Given the description of an element on the screen output the (x, y) to click on. 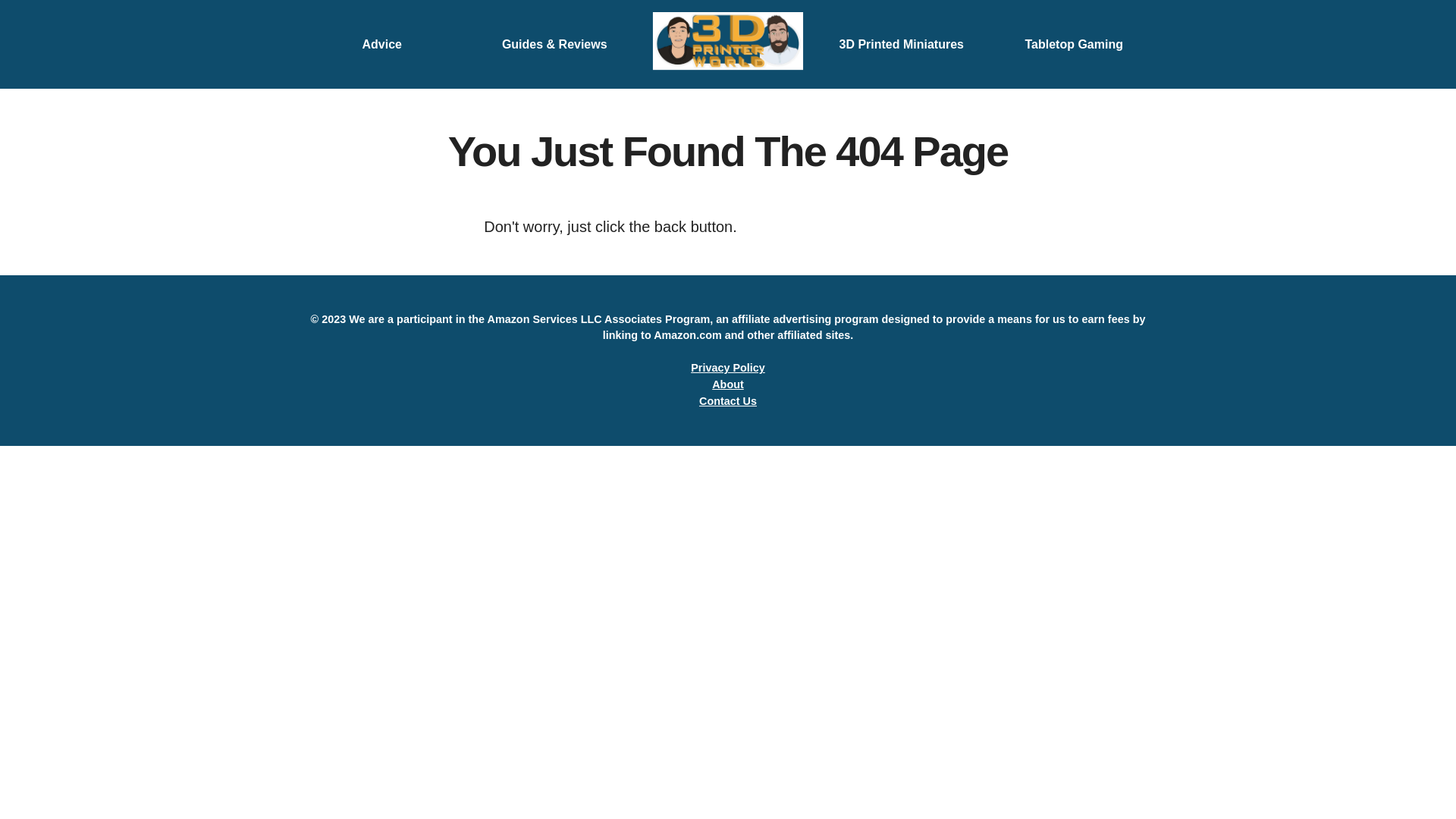
Tabletop Gaming Element type: text (1074, 43)
Guides & Reviews Element type: text (554, 43)
Logo Element type: hover (727, 44)
About Element type: text (727, 384)
Contact Us Element type: text (727, 401)
3D Printed Miniatures Element type: text (900, 43)
Privacy Policy Element type: text (727, 367)
Advice Element type: text (381, 43)
